Given the description of an element on the screen output the (x, y) to click on. 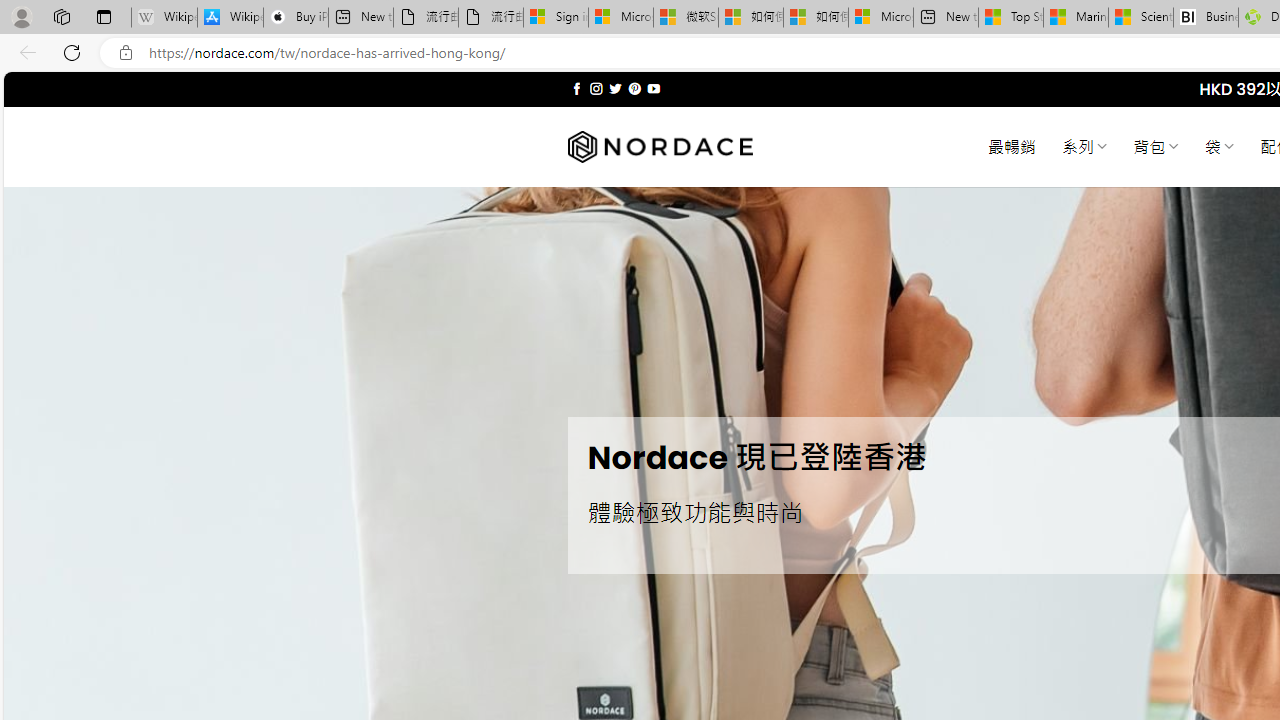
Follow on Instagram (596, 88)
